Given the description of an element on the screen output the (x, y) to click on. 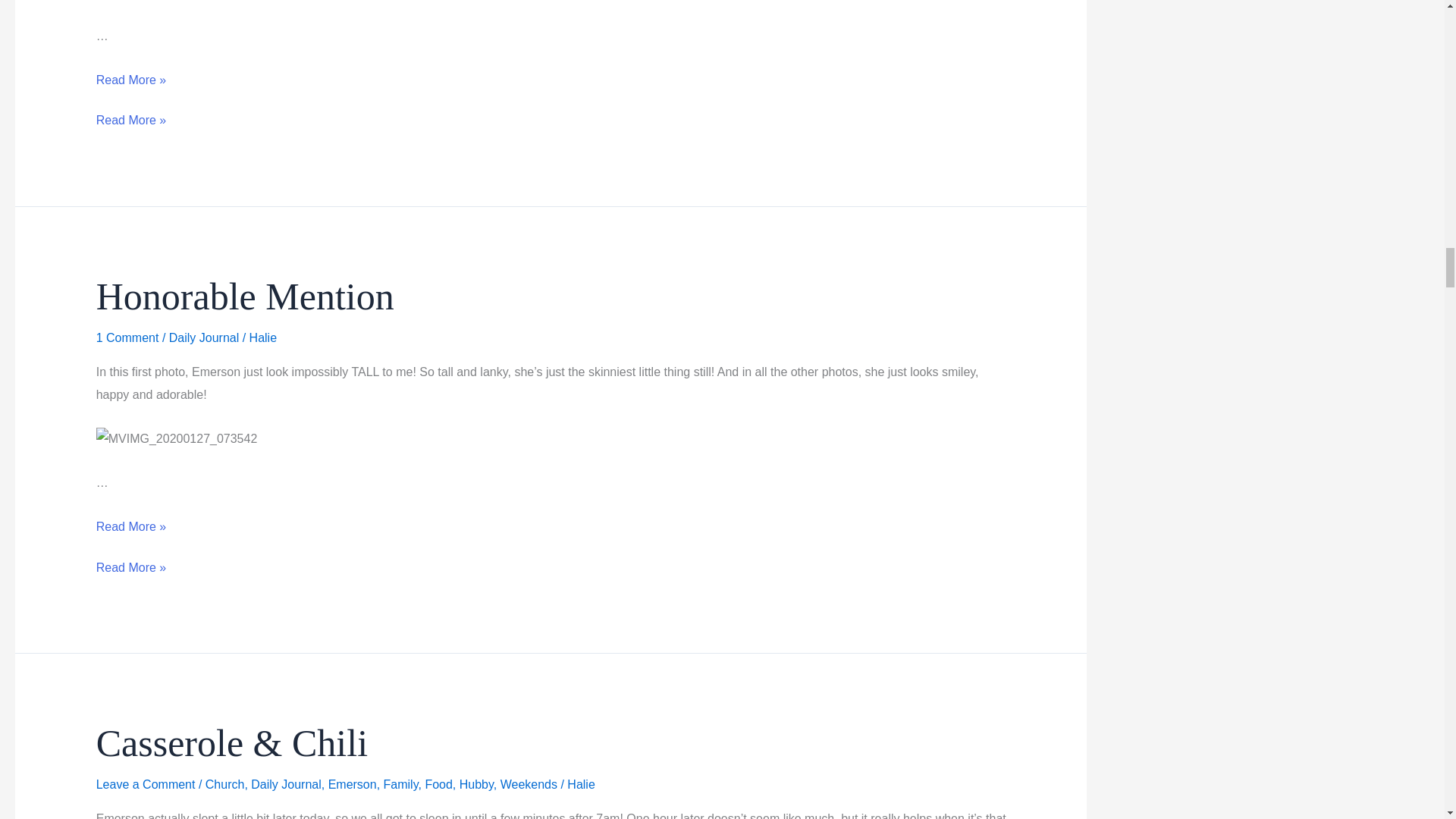
View all posts by Halie (262, 337)
View all posts by Halie (580, 784)
